Given the description of an element on the screen output the (x, y) to click on. 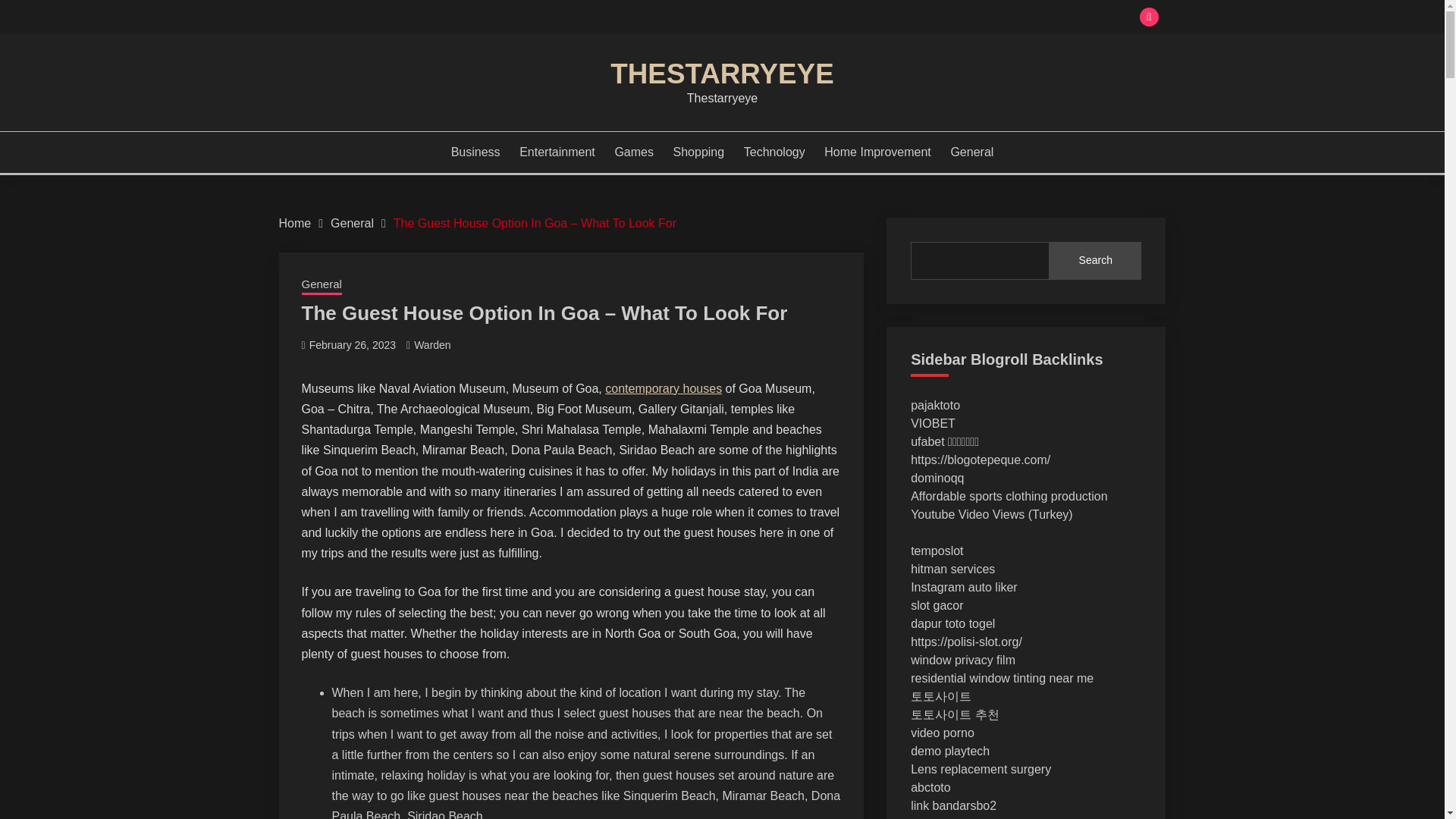
Home (295, 223)
General (352, 223)
THESTARRYEYE (721, 73)
Entertainment (557, 152)
pajaktoto (935, 404)
Business (475, 152)
Warden (432, 345)
February 26, 2023 (352, 345)
Search (832, 18)
dominoqq (937, 477)
